Given the description of an element on the screen output the (x, y) to click on. 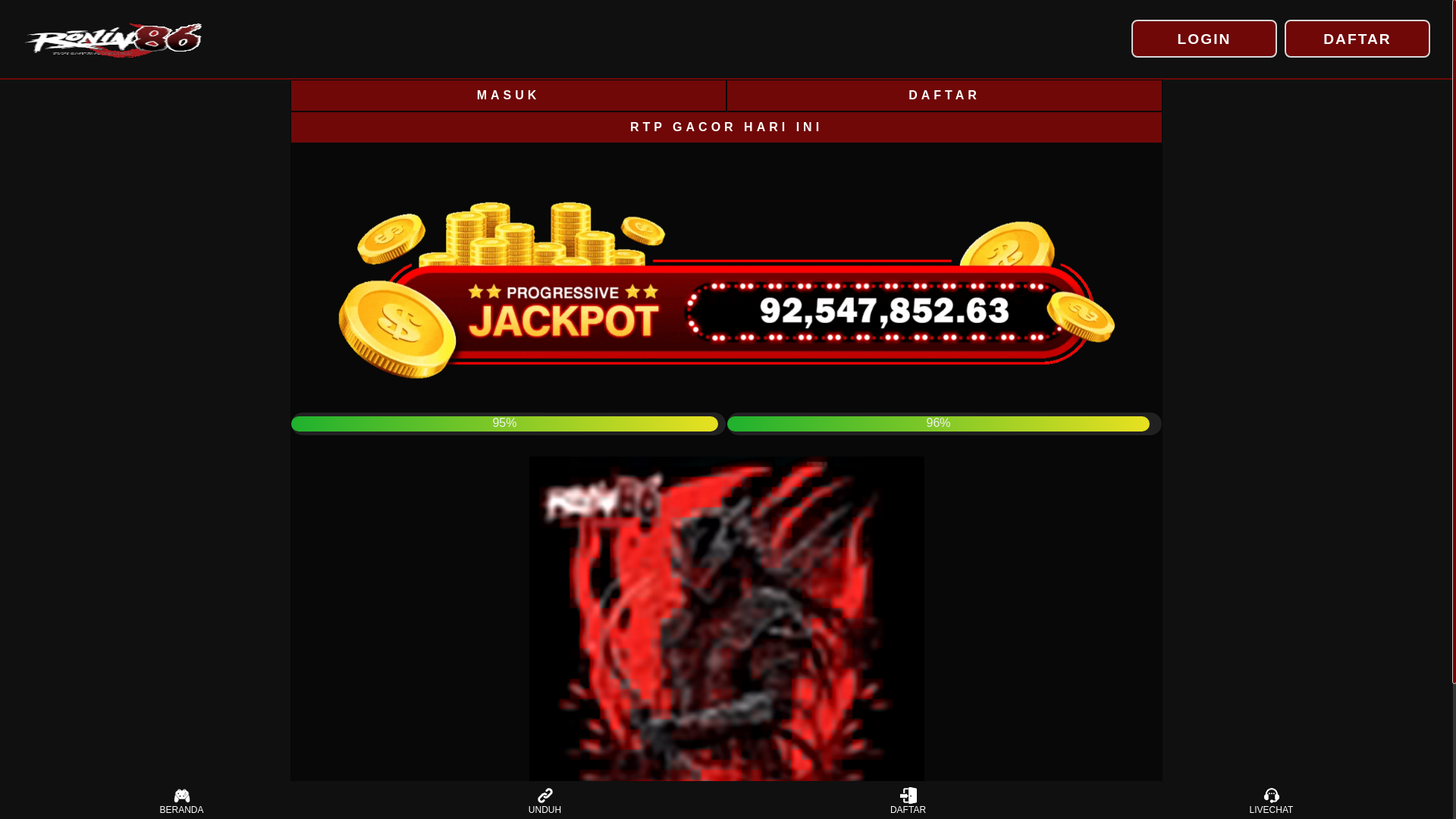
DAFTAR (943, 95)
DAFTAR (1356, 38)
LOGIN Ronin86 (1203, 38)
DAFTAR Ronin86 (1356, 38)
MASUK (508, 95)
LOGIN (1203, 38)
RTP GACOR HARI INI (726, 127)
